Given the description of an element on the screen output the (x, y) to click on. 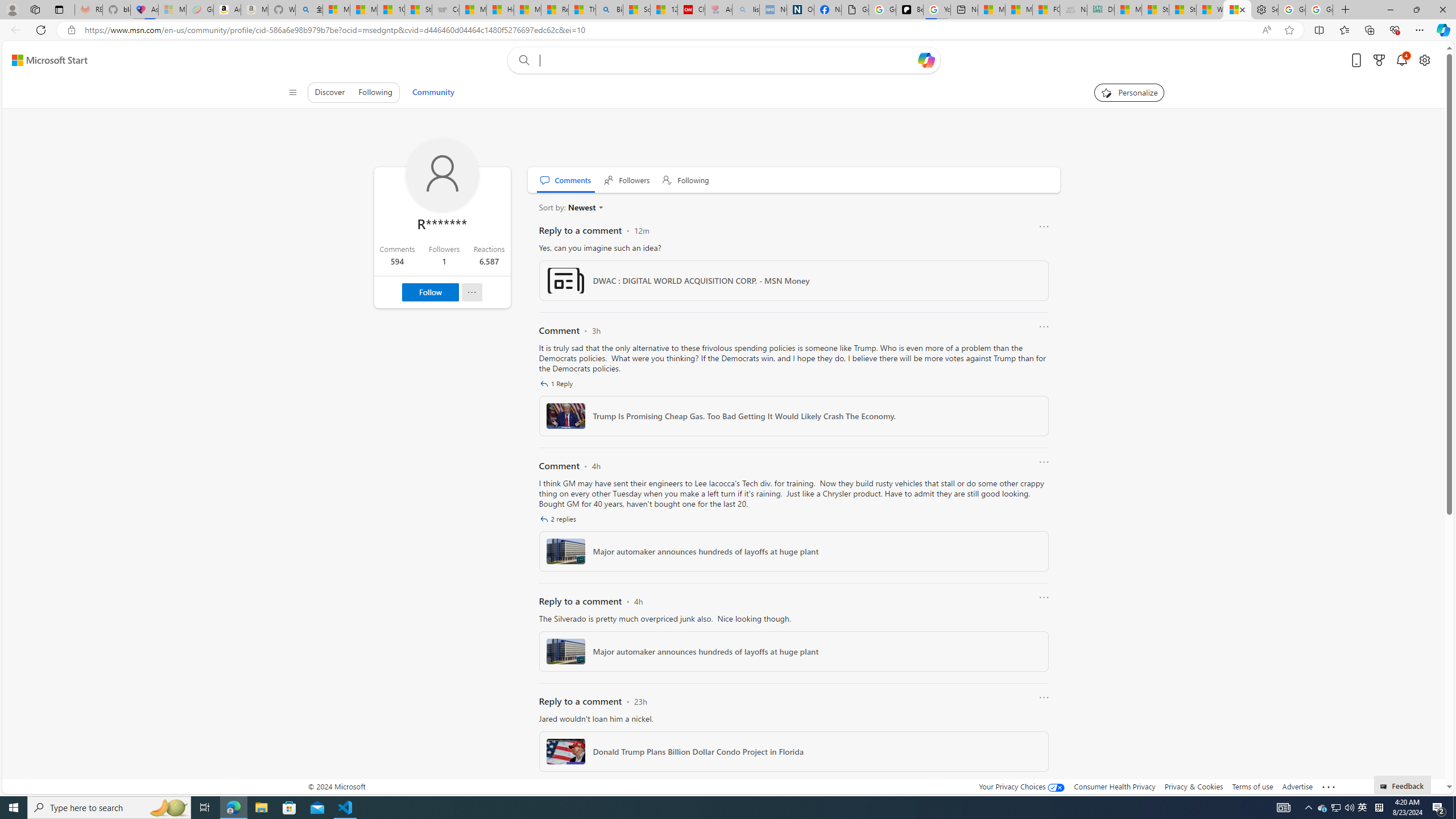
Class: feedback_link_icon-DS-EntryPoint1-1 (1384, 786)
 Following (686, 179)
